Given the description of an element on the screen output the (x, y) to click on. 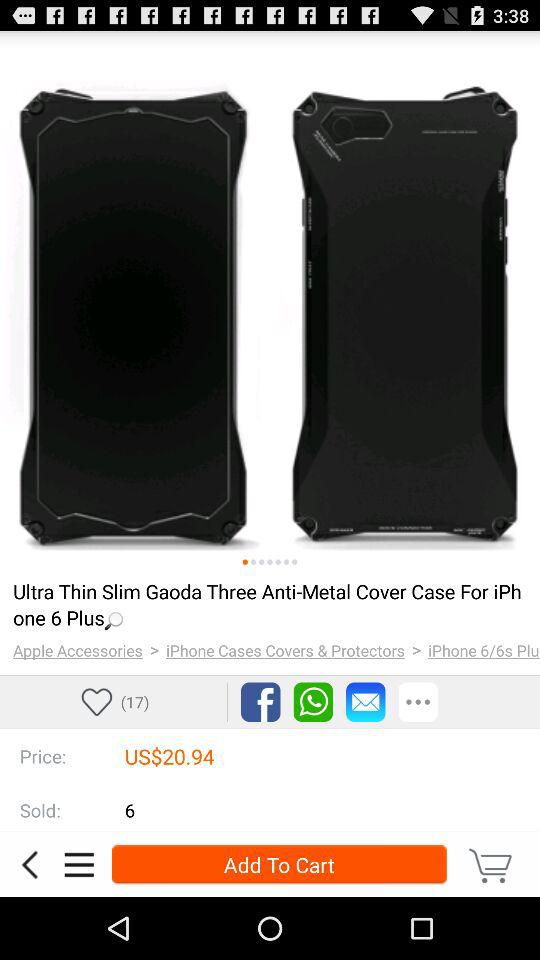
go to fourth image (269, 561)
